Given the description of an element on the screen output the (x, y) to click on. 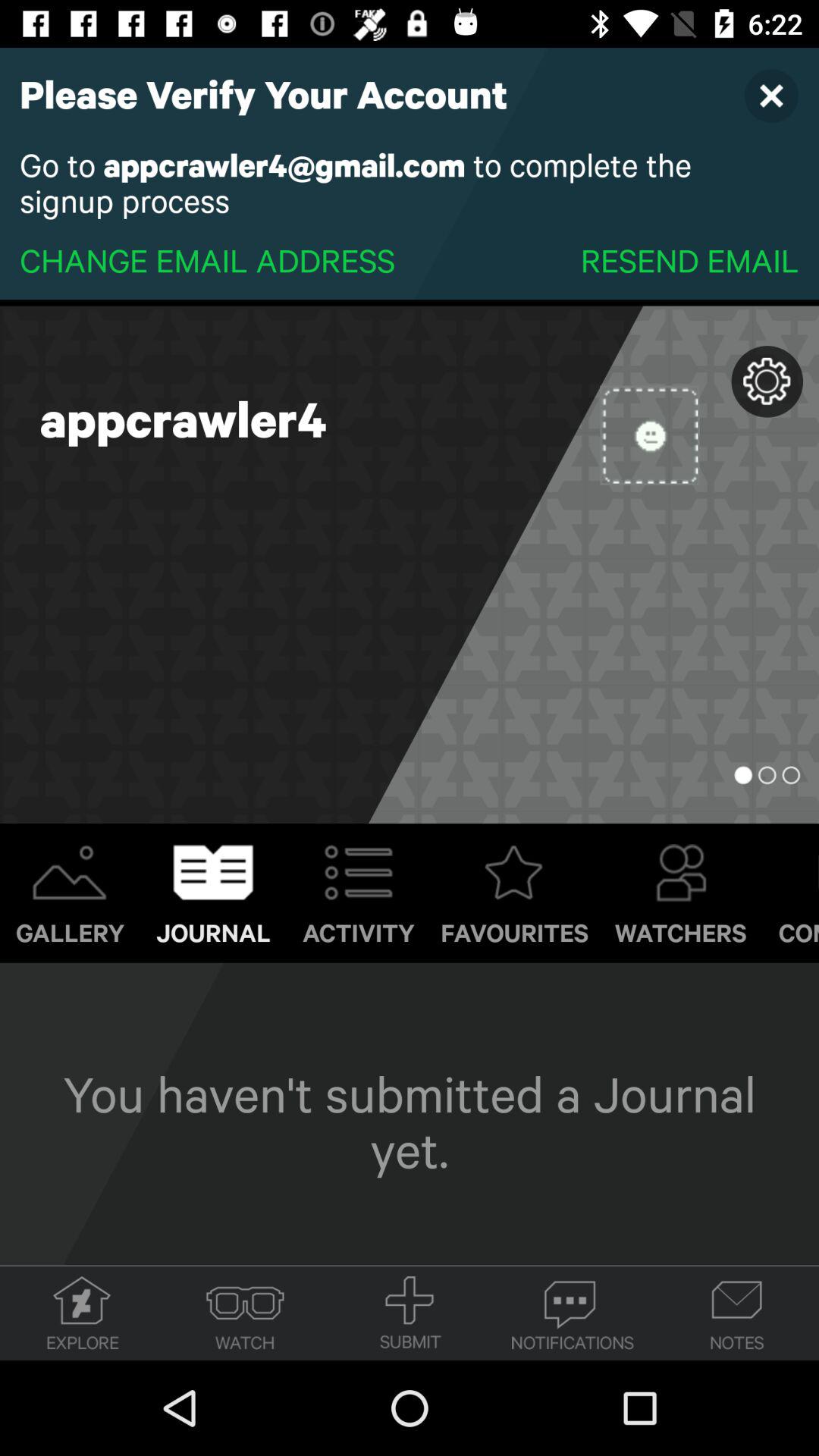
flip until resend email item (689, 259)
